Given the description of an element on the screen output the (x, y) to click on. 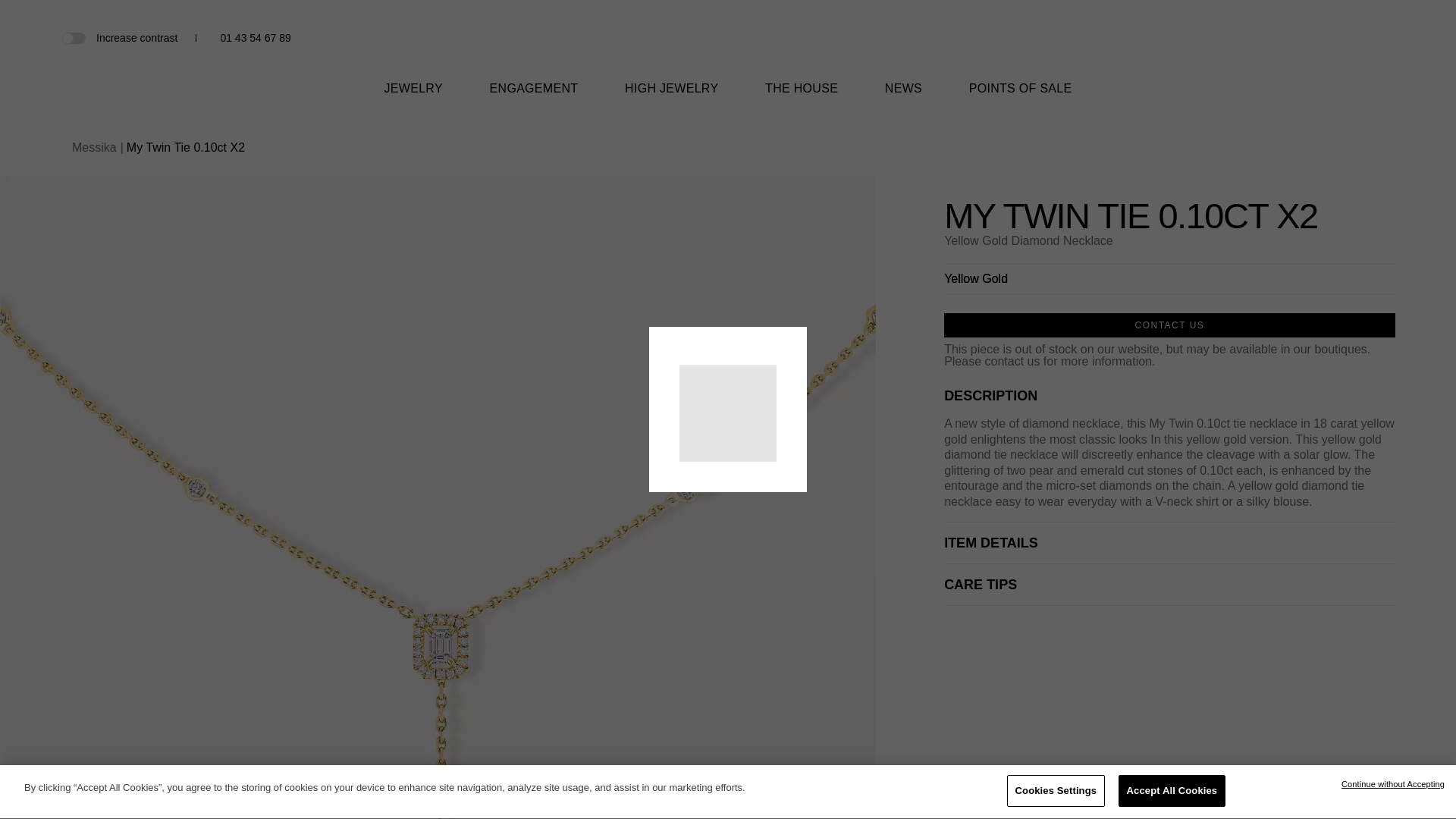
JEWELRY (413, 97)
Wishlist (1360, 37)
Search (1335, 39)
Messika (727, 57)
on (73, 36)
Messika (727, 46)
01 43 54 67 89 (254, 37)
Wishlist (1360, 38)
01 43 54 67 89 (254, 37)
